Given the description of an element on the screen output the (x, y) to click on. 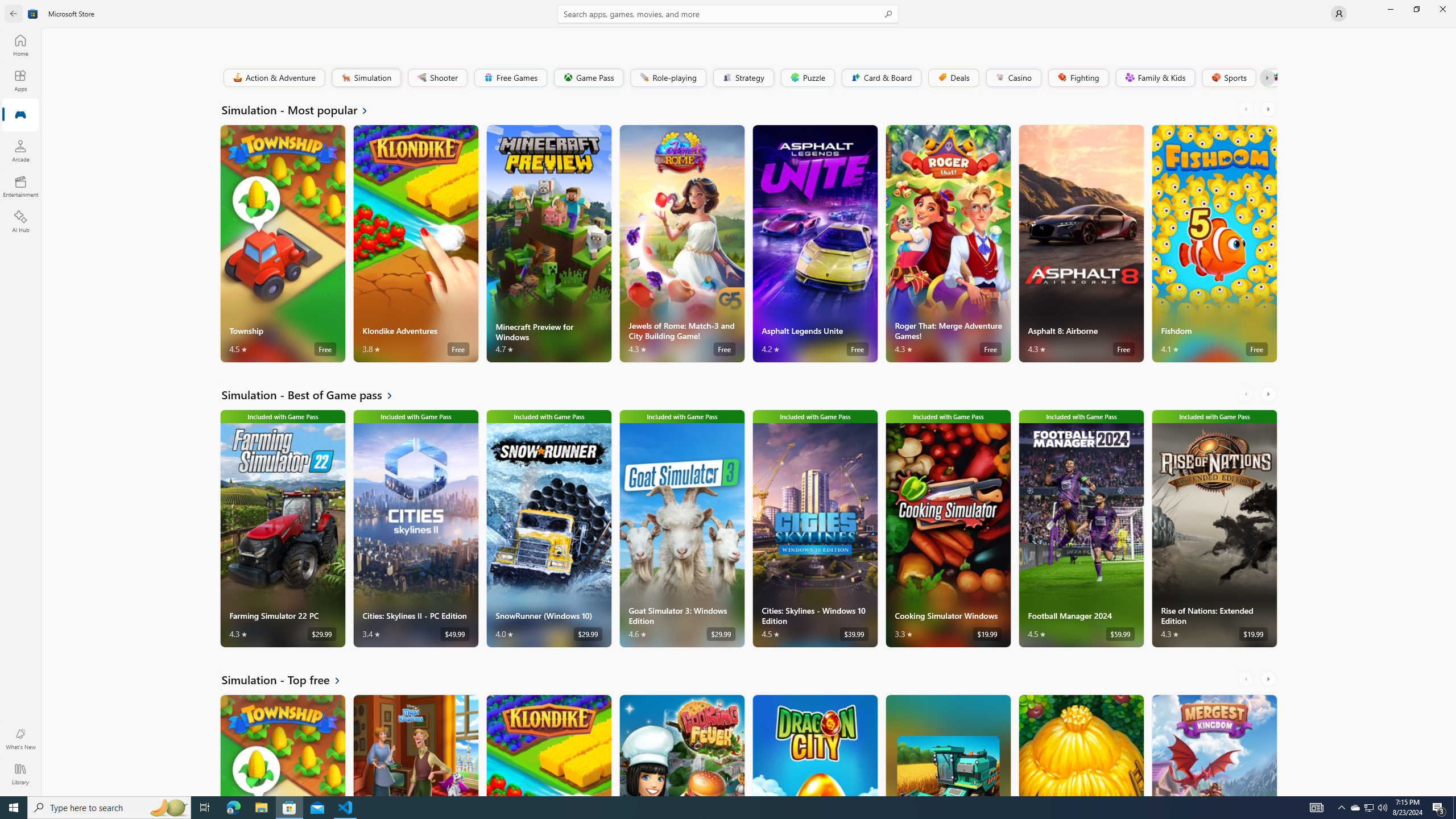
Shooter (436, 77)
Strategy (742, 77)
Platformer (1269, 77)
Fishdom. Average rating of 4.1 out of five stars. Free   (1213, 243)
What's New (20, 738)
Back (13, 13)
Restore Microsoft Store (1416, 9)
Puzzle (807, 77)
See all  Simulation - Best of Game pass (313, 394)
